Given the description of an element on the screen output the (x, y) to click on. 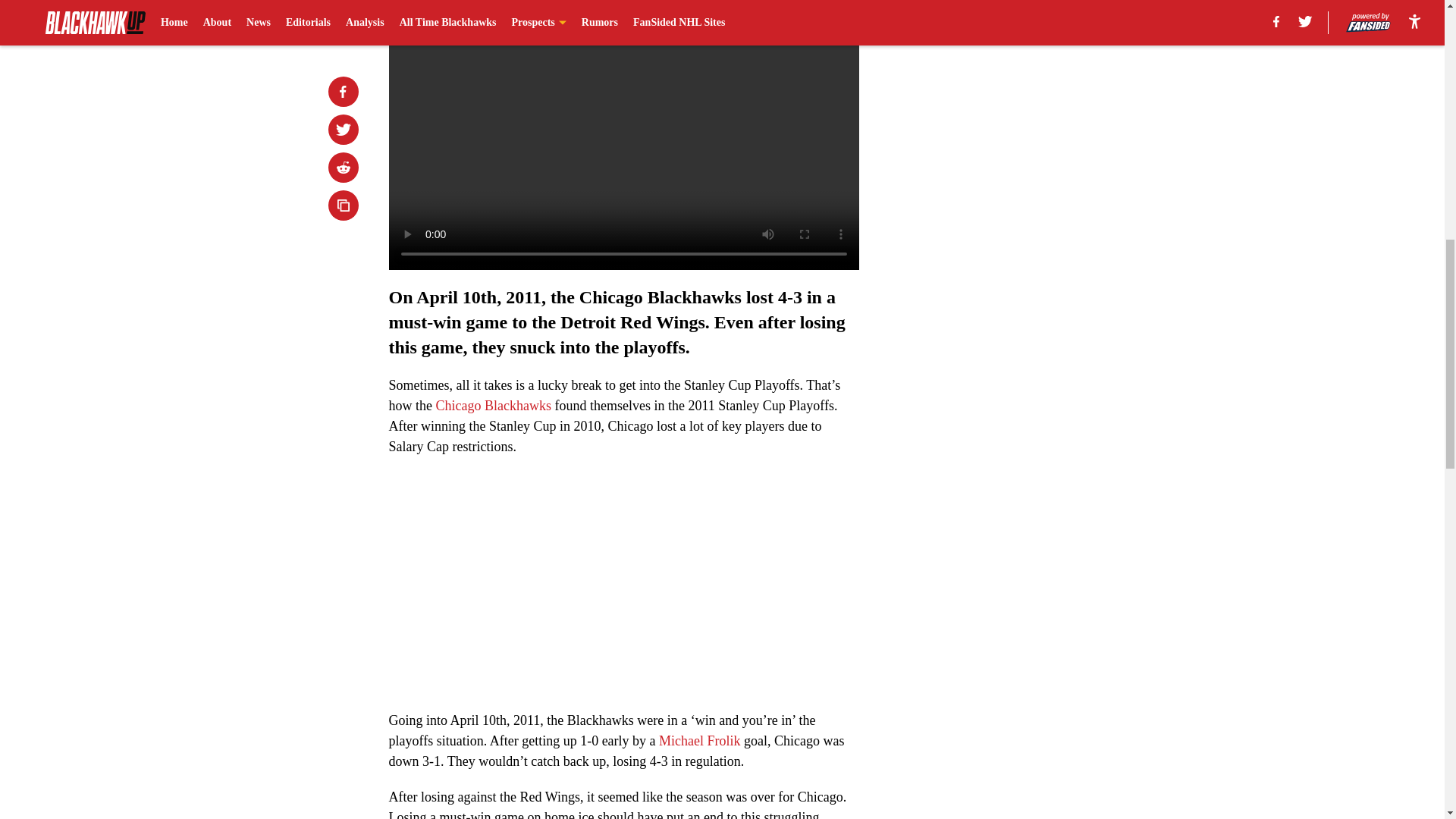
Michael Frolik (699, 740)
Chicago Blackhawks (492, 405)
3rd party ad content (1047, 320)
3rd party ad content (1047, 100)
